Given the description of an element on the screen output the (x, y) to click on. 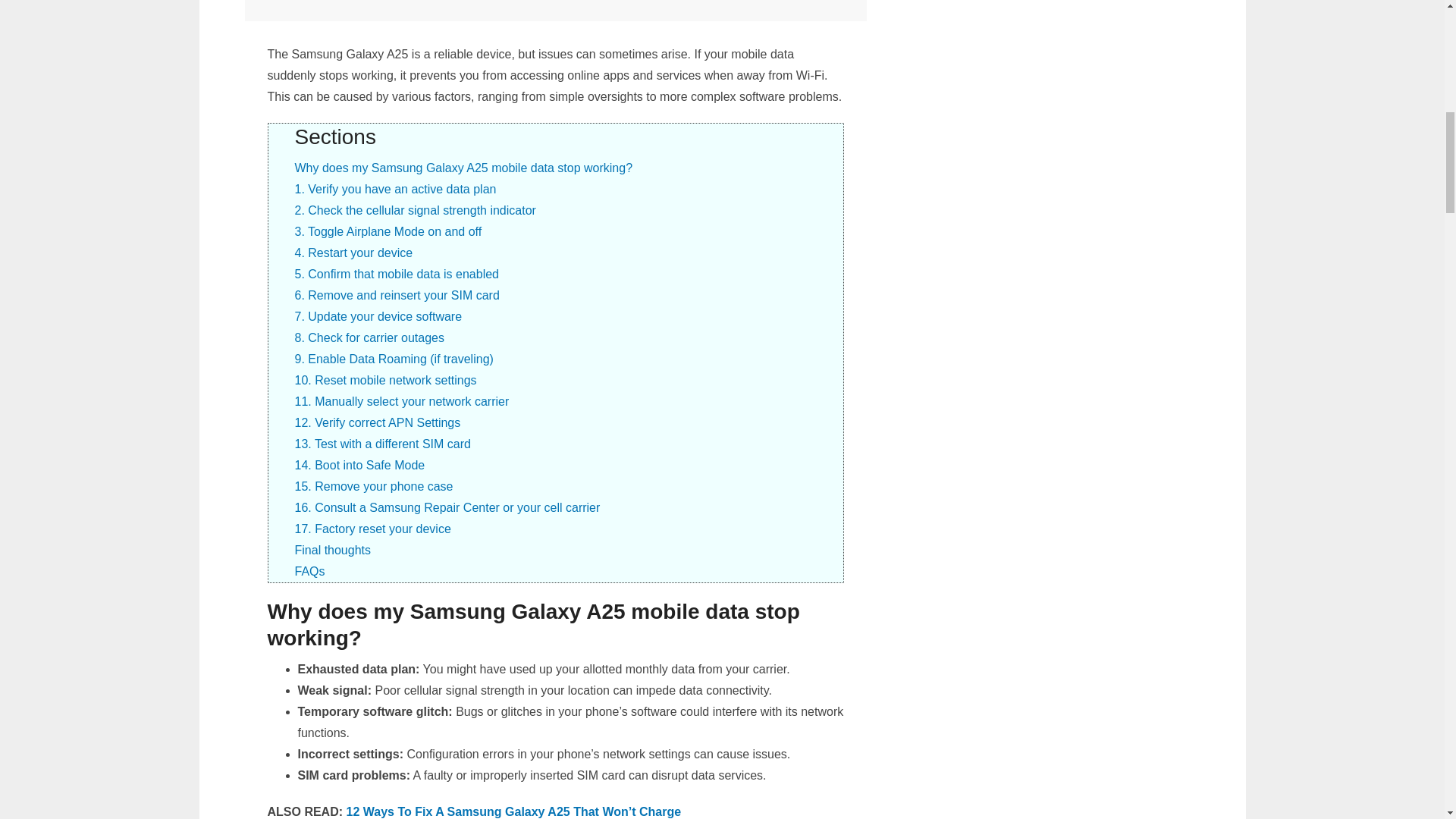
Why does my Samsung Galaxy A25 mobile data stop working? (462, 167)
2. Check the cellular signal strength indicator (414, 210)
1. Verify you have an active data plan (395, 188)
